Given the description of an element on the screen output the (x, y) to click on. 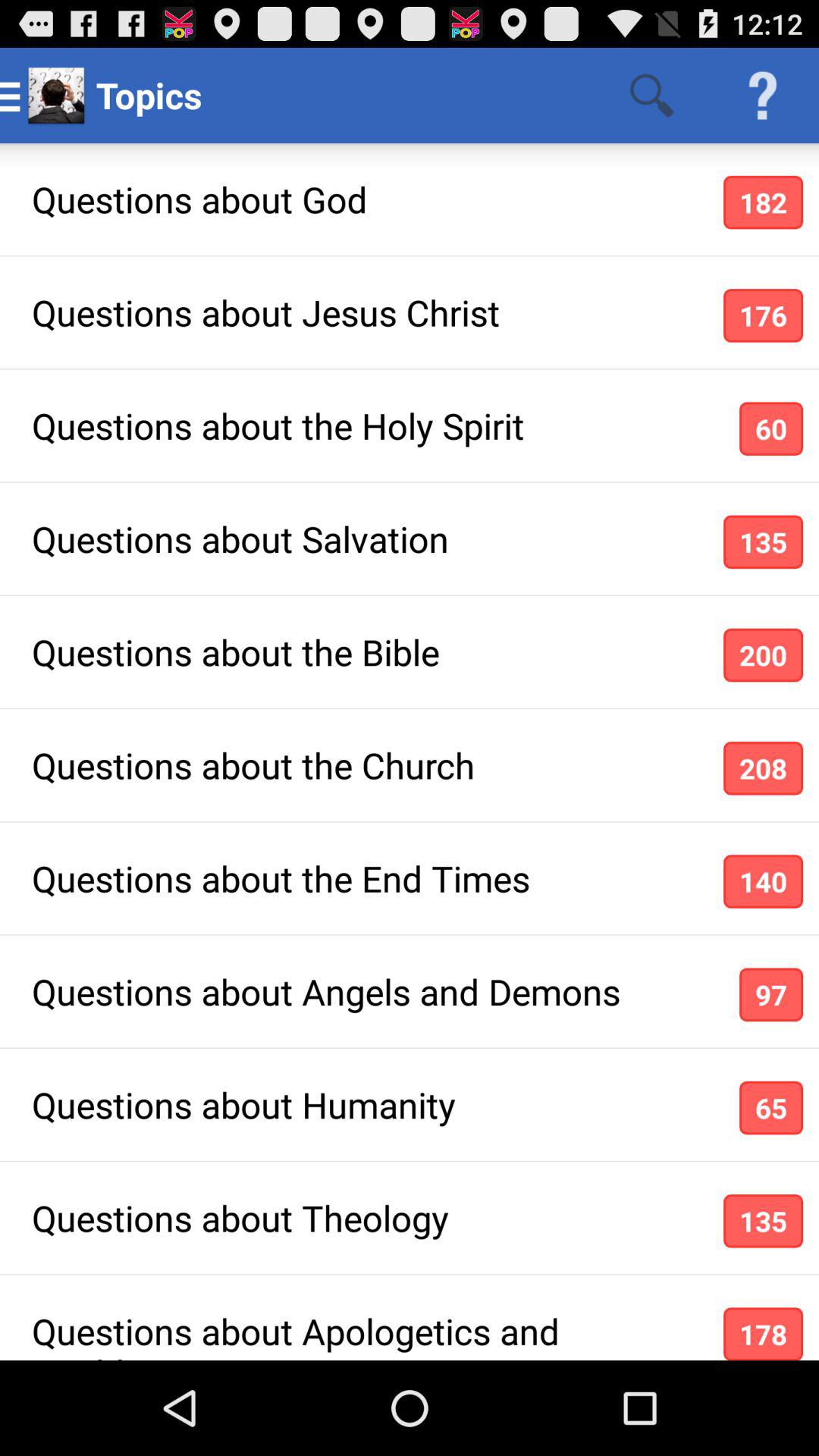
swipe until the 208 app (763, 768)
